Given the description of an element on the screen output the (x, y) to click on. 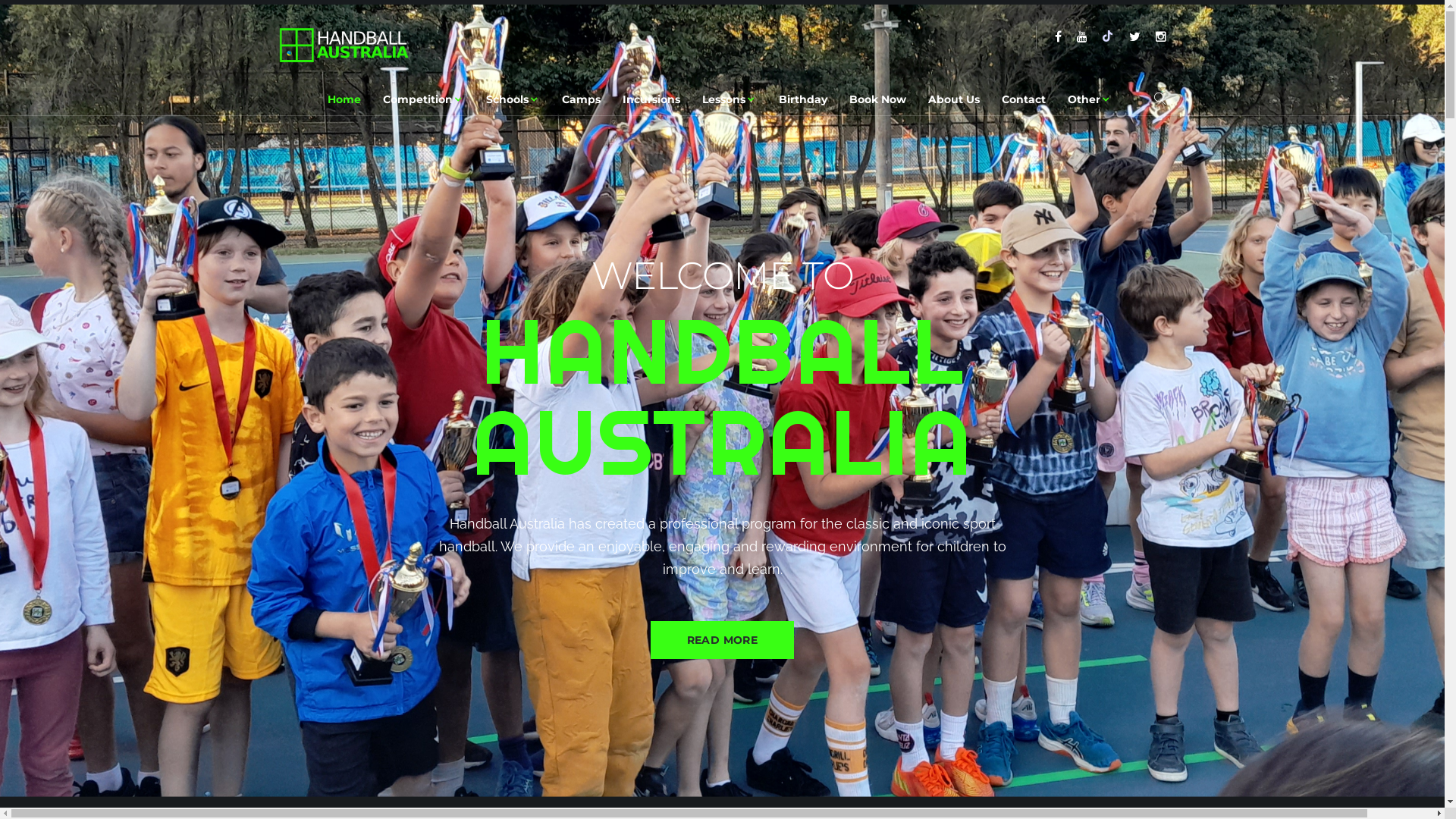
Competition Element type: text (422, 99)
Home Element type: text (343, 99)
Book Now Element type: text (877, 99)
Facebook Element type: hover (1081, 36)
Facebook Element type: hover (1057, 36)
Birthday Element type: text (802, 99)
Tiktok Element type: hover (1107, 36)
Search Element type: text (1160, 101)
Lessons Element type: text (729, 99)
Schools Element type: text (512, 99)
Camps Element type: text (580, 99)
About Us Element type: text (953, 99)
Incursions Element type: text (650, 99)
Twitter Element type: hover (1133, 36)
. Element type: hover (344, 45)
Instagram Element type: hover (1160, 36)
Contact Element type: text (1022, 99)
READ MORE Element type: text (722, 639)
